Given the description of an element on the screen output the (x, y) to click on. 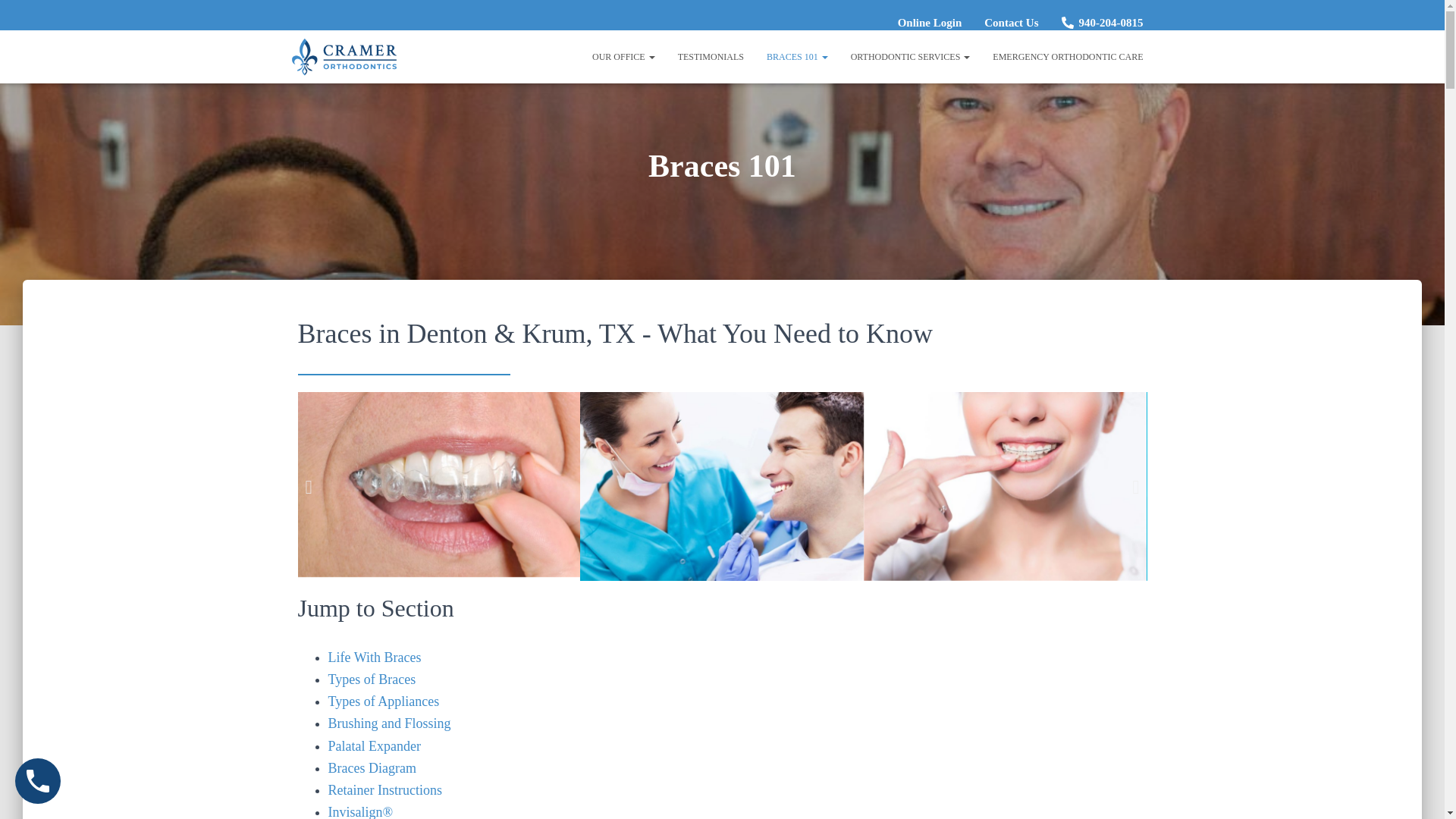
940-204-0815 (1101, 22)
EMERGENCY ORTHODONTIC CARE (1067, 56)
940-204-0815 (1101, 22)
Cramer Orthodontics (344, 56)
Life With Braces (373, 657)
BRACES 101 (797, 56)
Online Login (930, 22)
ORTHODONTIC SERVICES (910, 56)
Braces 101 (797, 56)
Types of Braces (370, 679)
Testimonials (710, 56)
Our Office (623, 56)
Contact Us (1011, 22)
Online Login (930, 22)
OUR OFFICE (623, 56)
